Given the description of an element on the screen output the (x, y) to click on. 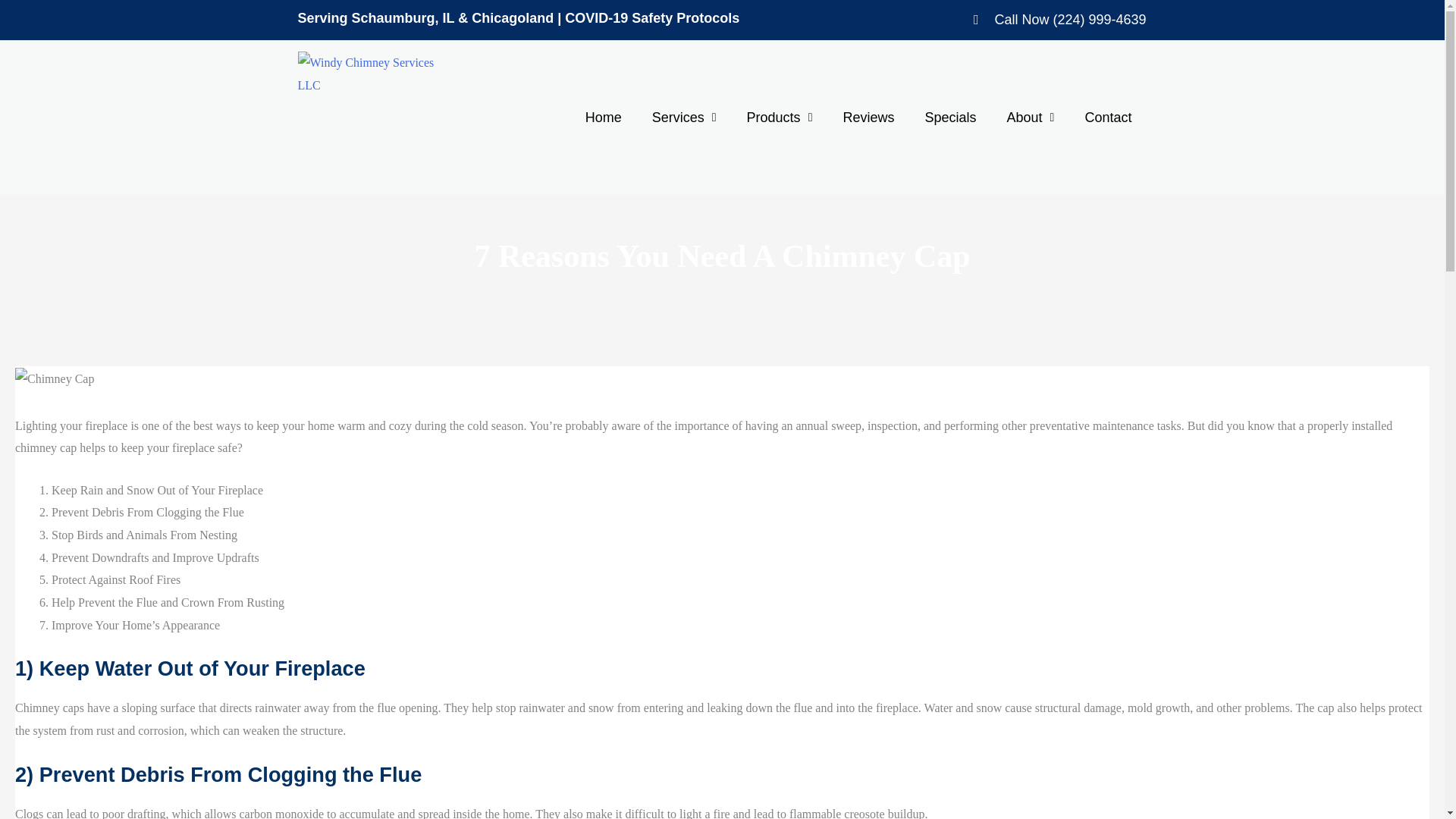
Products (780, 117)
Reviews (867, 117)
About (1030, 117)
7 Reasons You Need A Chimney Cap (54, 378)
Services (684, 117)
Contact (1107, 117)
COVID-19 Safety Protocols (651, 17)
Home (603, 117)
Specials (950, 117)
